Given the description of an element on the screen output the (x, y) to click on. 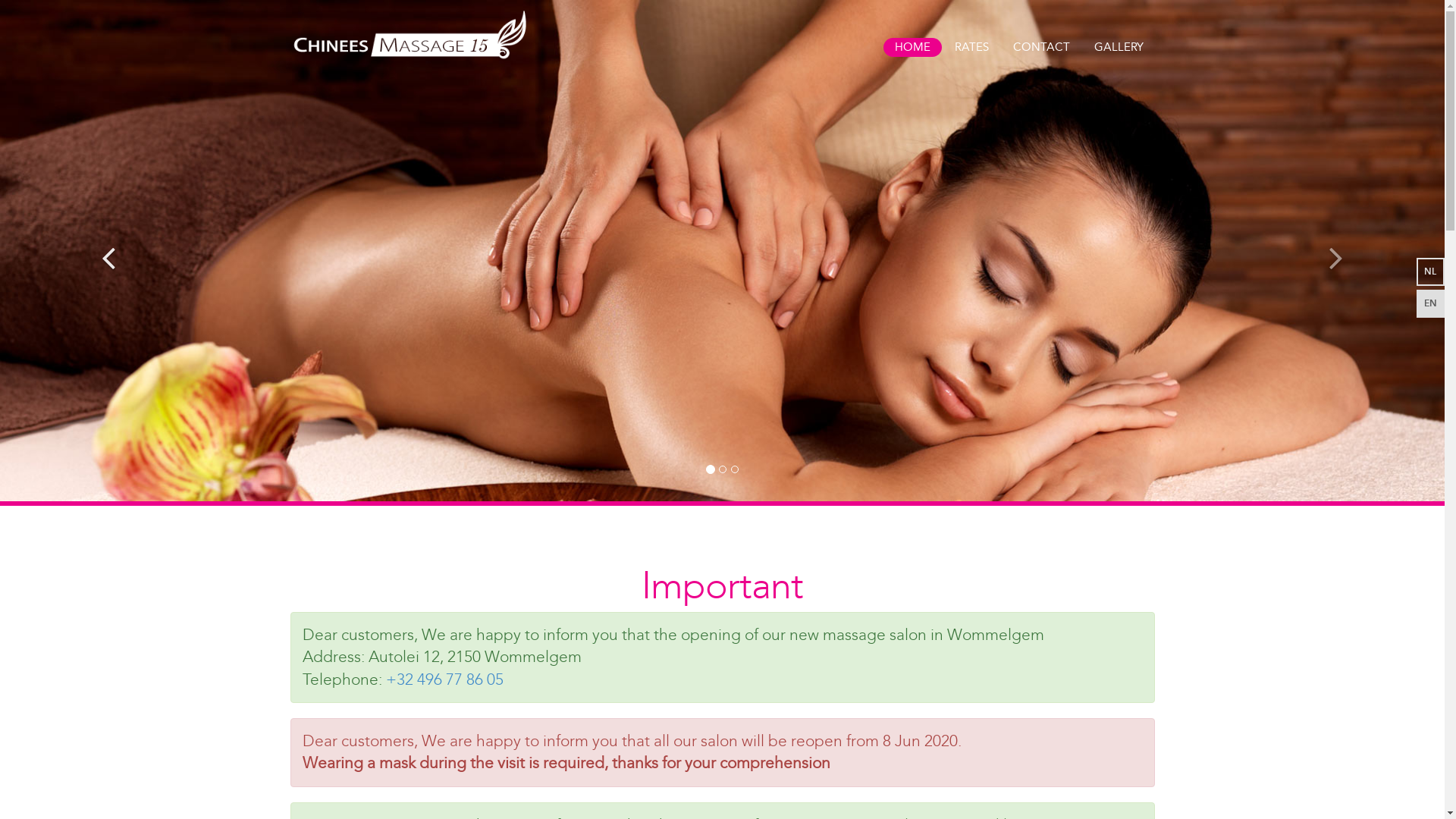
GALLERY Element type: text (1118, 46)
EN Element type: text (1430, 303)
CONTACT Element type: text (1040, 46)
+32 496 77 86 05 Element type: text (443, 678)
HOME Element type: text (911, 46)
NL Element type: text (1430, 271)
RATES Element type: text (971, 46)
